Given the description of an element on the screen output the (x, y) to click on. 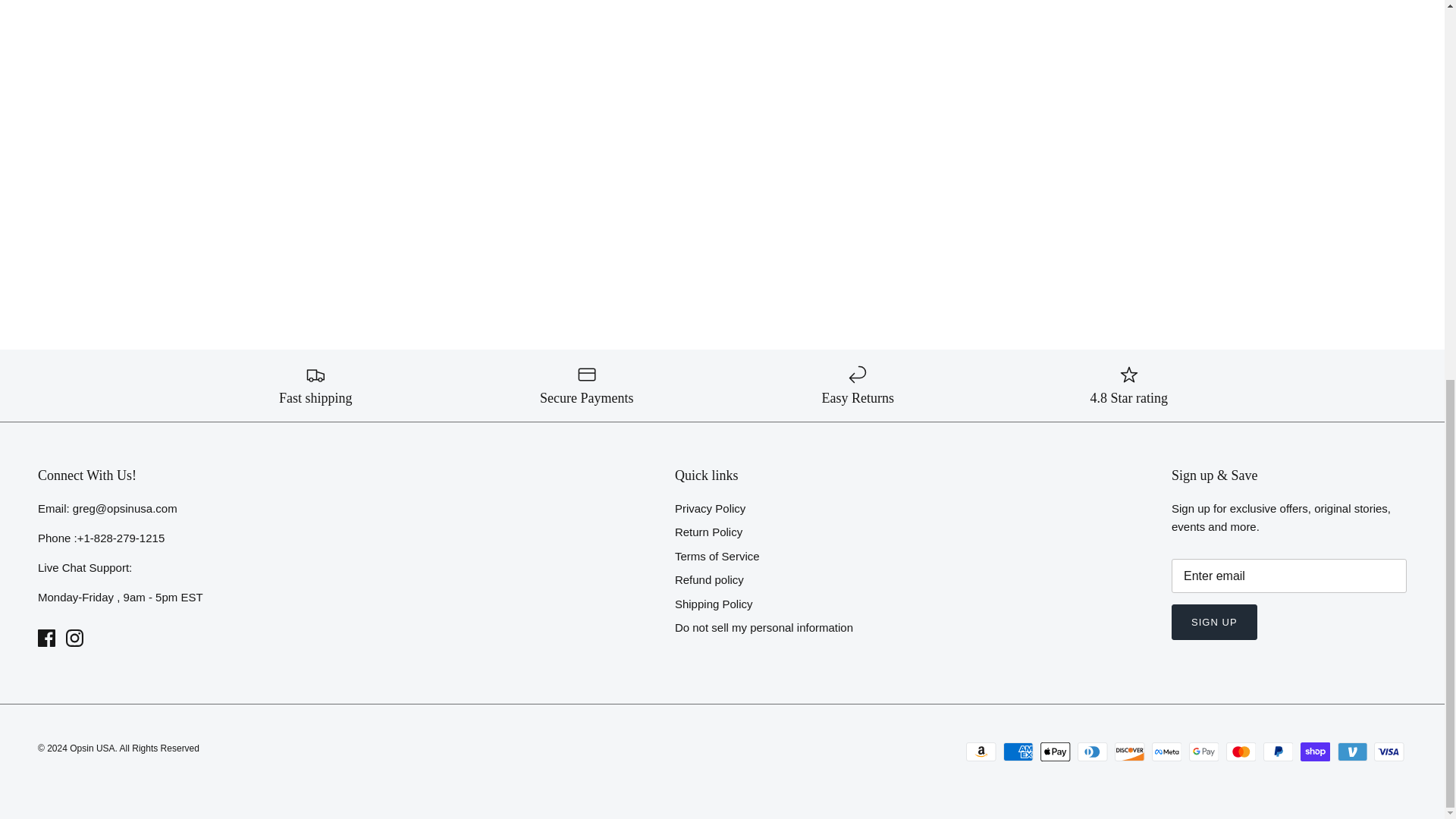
Meta Pay (1166, 751)
Facebook (46, 638)
Apple Pay (1055, 751)
Instagram (73, 638)
Mastercard (1240, 751)
Shop Pay (1315, 751)
Discover (1129, 751)
Diners Club (1092, 751)
Return Policy (708, 531)
Google Pay (1203, 751)
Instagram (73, 638)
Privacy Policy (710, 508)
Visa (1388, 751)
Amazon (980, 751)
Venmo (1352, 751)
